Given the description of an element on the screen output the (x, y) to click on. 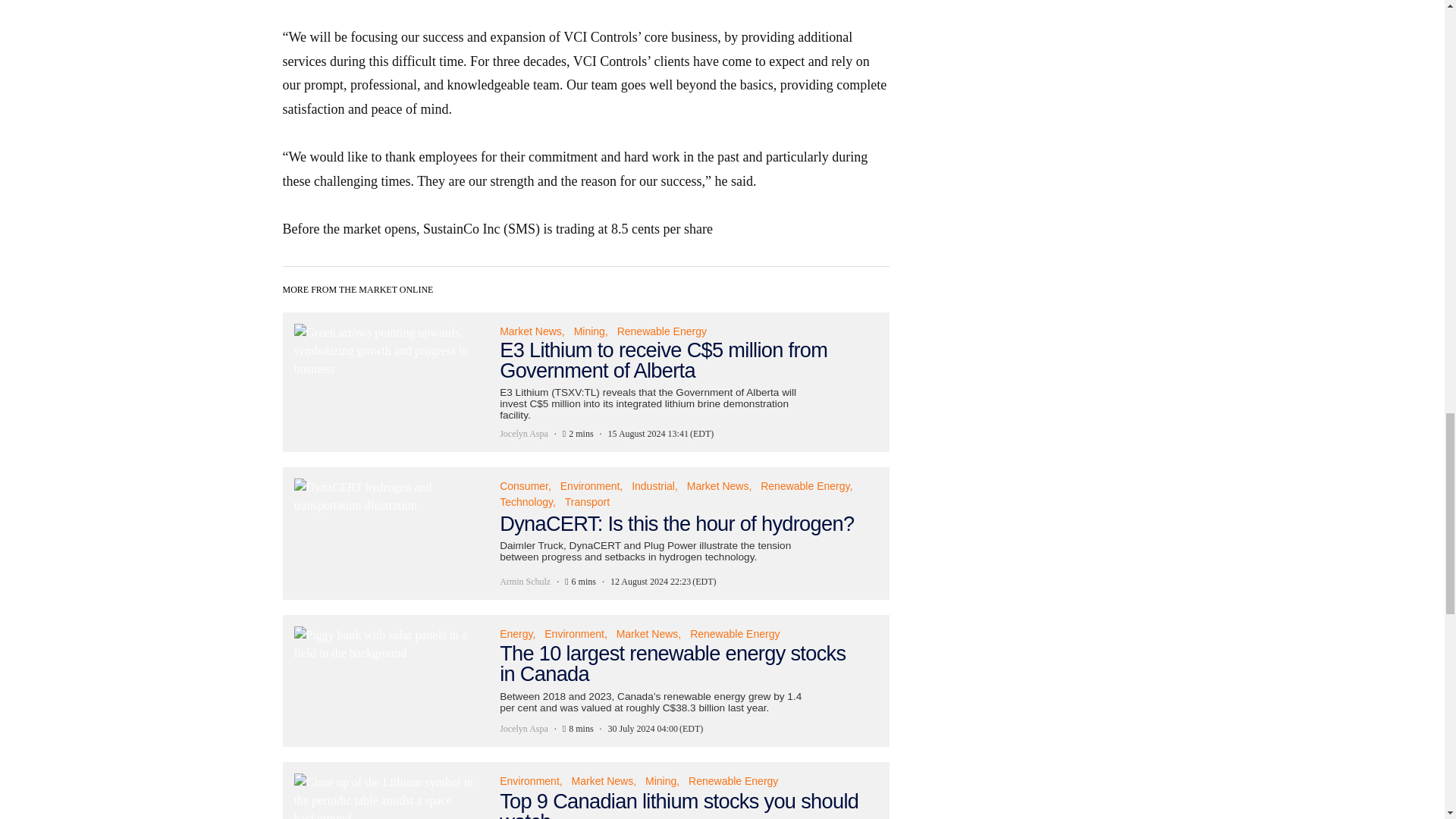
View all posts by Armin Schulz (524, 581)
DynaCERT: Is this the hour of hydrogen? (585, 532)
View all posts by Jocelyn Aspa (523, 433)
The 10 largest renewable energy stocks in Canada (585, 680)
Top 9 Canadian lithium stocks you should watch (585, 790)
View all posts by Jocelyn Aspa (523, 728)
